Given the description of an element on the screen output the (x, y) to click on. 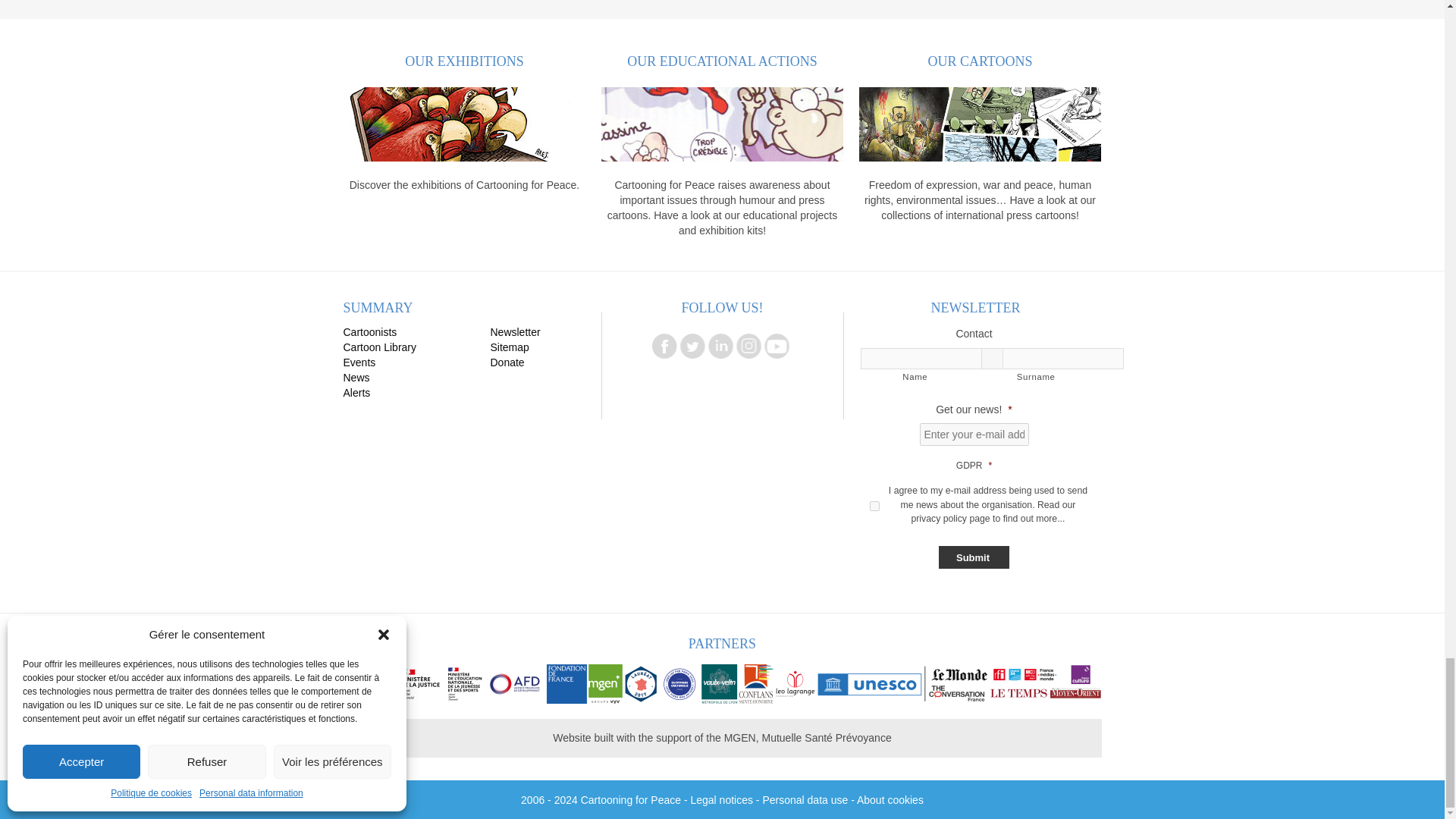
Submit (974, 557)
